Given the description of an element on the screen output the (x, y) to click on. 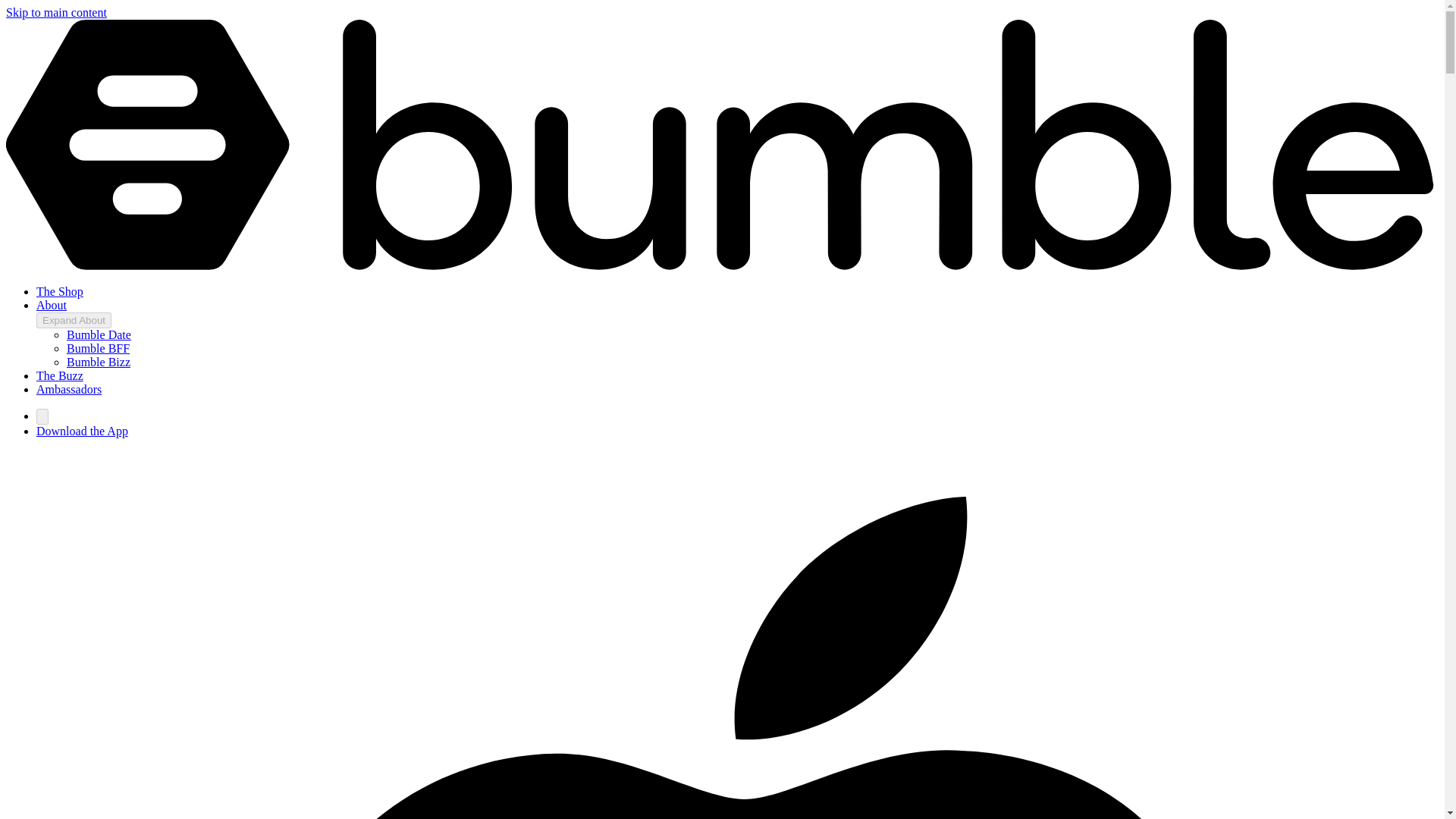
Download the App (82, 431)
Ambassadors (68, 389)
Bumble Date (98, 334)
Expand About (74, 320)
The Shop (59, 291)
Bumble BFF (97, 348)
The Buzz (59, 375)
Bumble Bizz (98, 361)
Skip to main content (55, 11)
About (51, 305)
